Given the description of an element on the screen output the (x, y) to click on. 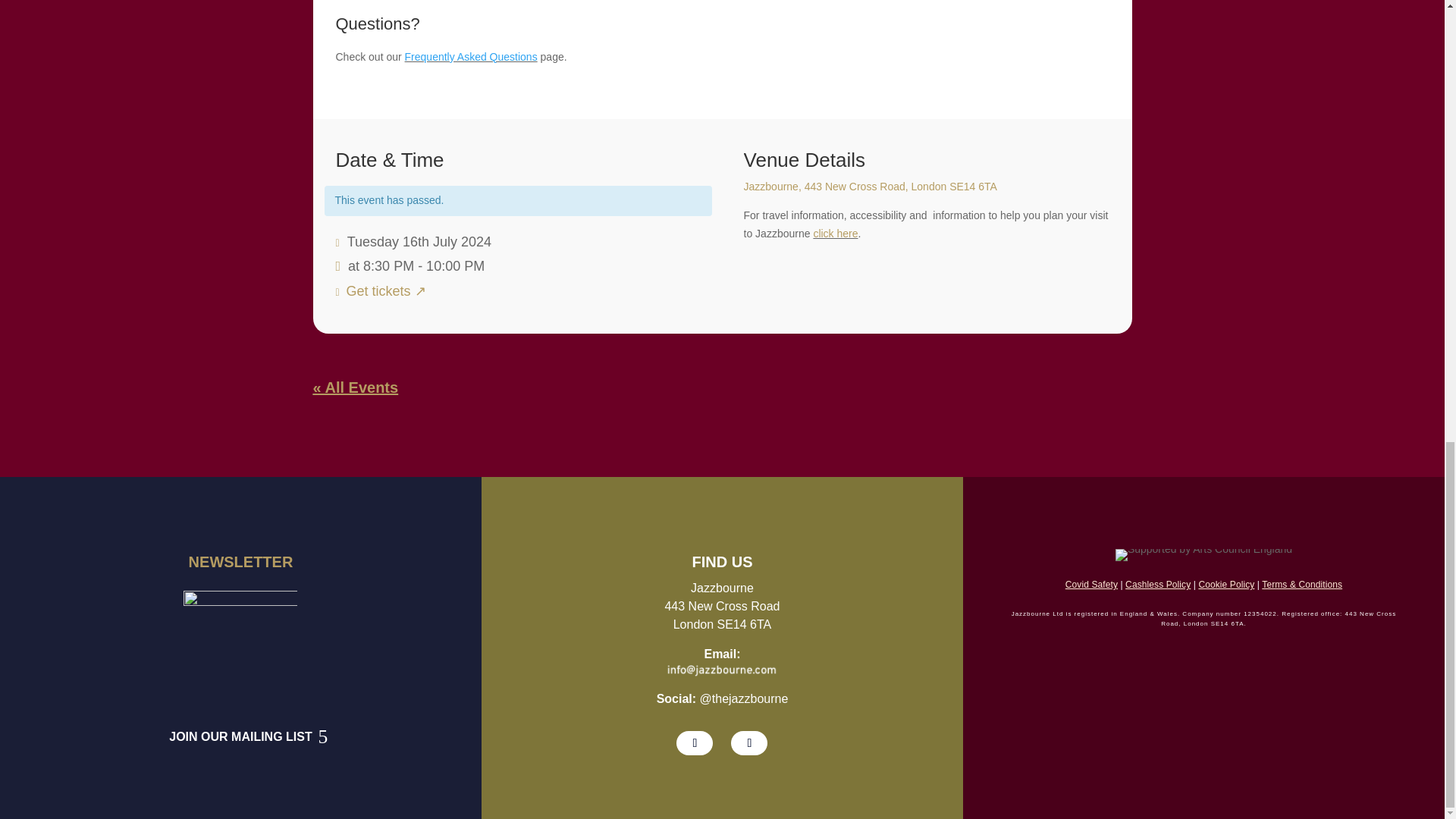
Cashless Policy (1158, 584)
Jazzbourne, 443 New Cross Road, London SE14 6TA (870, 186)
Covid Safety (1091, 584)
Follow on Instagram (695, 743)
click here (834, 233)
Supported by Arts Council England (1203, 554)
JOIN OUR MAILING LIST (239, 742)
Follow on Facebook (748, 743)
Frequently Asked Questions (470, 56)
Cookie Policy (1225, 584)
